Given the description of an element on the screen output the (x, y) to click on. 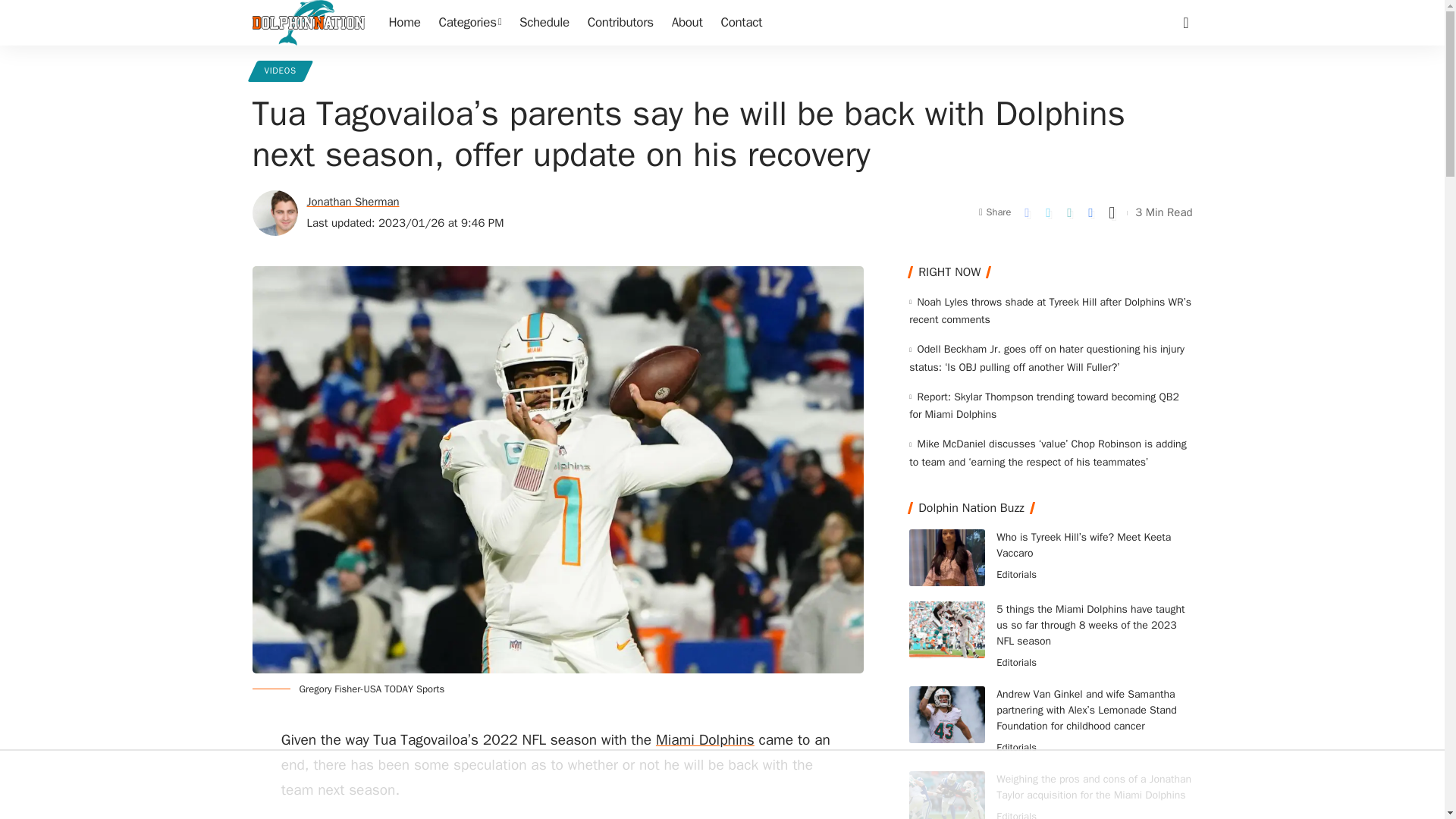
Contributors (620, 22)
Schedule (544, 22)
Contact (741, 22)
Miami Dolphins (705, 740)
About (686, 22)
Home (403, 22)
Dolphin Nation (307, 22)
Categories (470, 22)
